Given the description of an element on the screen output the (x, y) to click on. 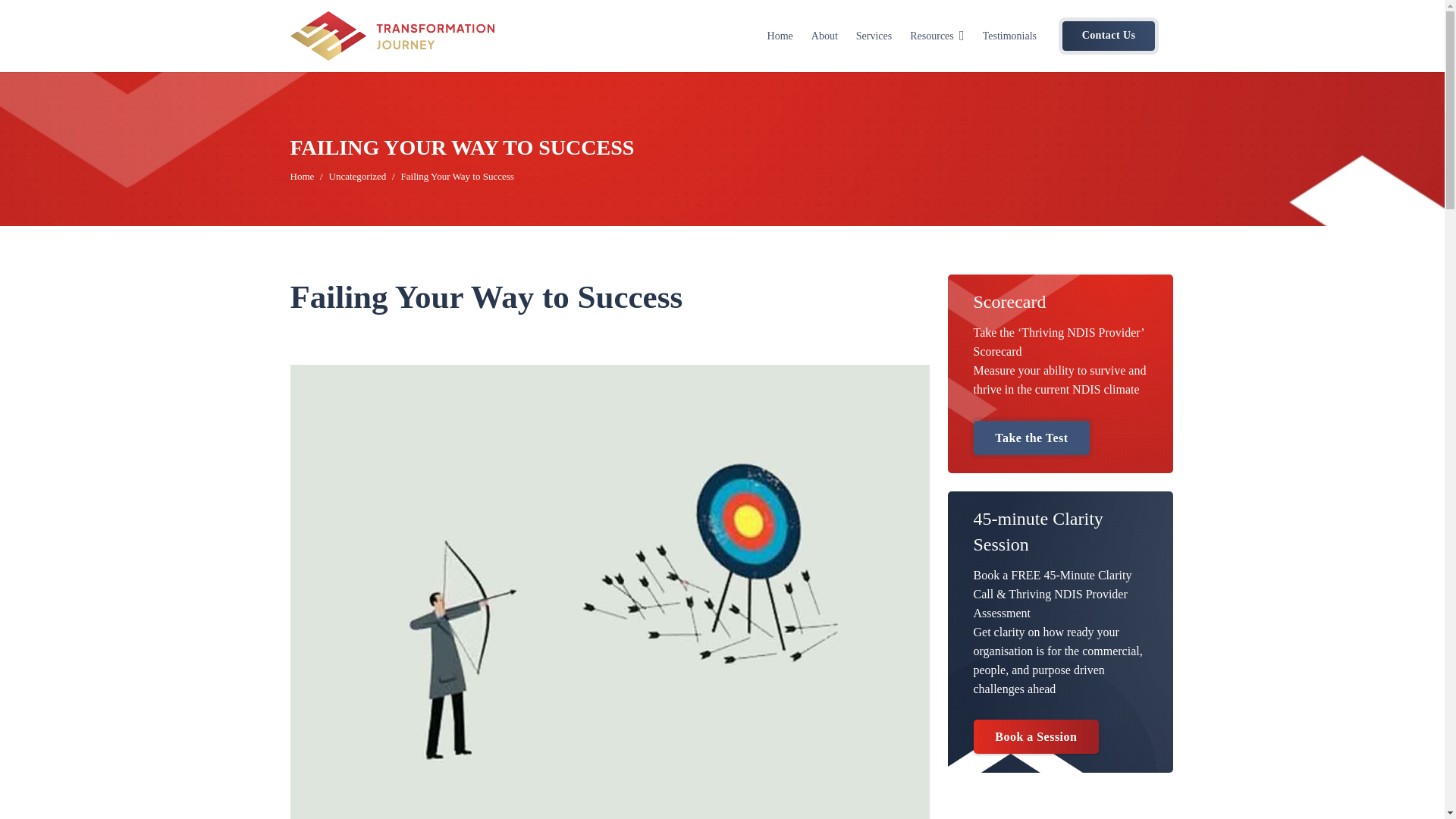
Take the Test (1032, 437)
Testimonials (1009, 36)
Failing Your Way to Success (457, 175)
Resources (936, 36)
Home (301, 175)
Book a Session (1036, 736)
Uncategorized (358, 175)
Contact Us (1108, 35)
